Given the description of an element on the screen output the (x, y) to click on. 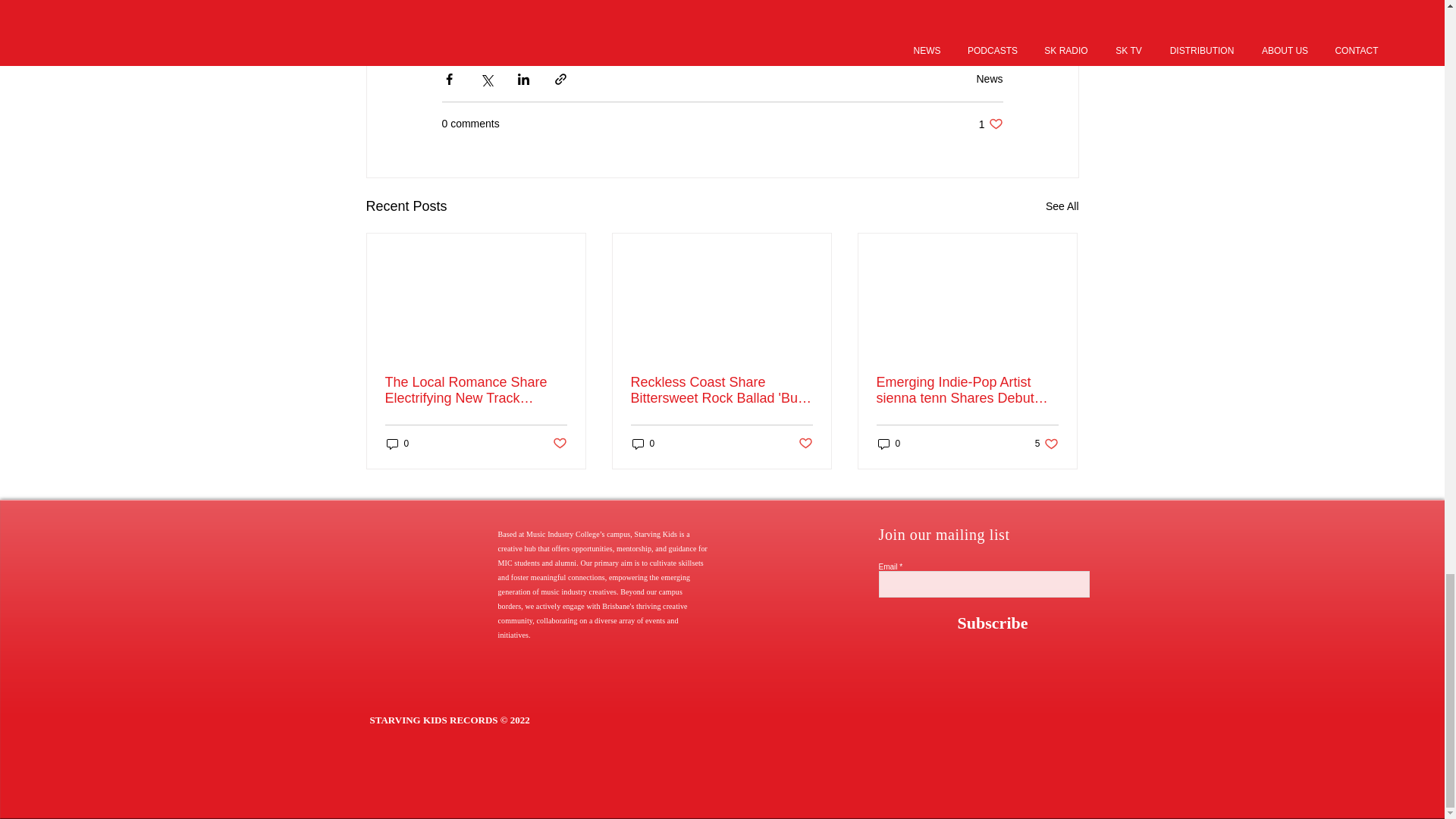
See All (1061, 206)
music video (990, 124)
club music (478, 20)
producer (792, 20)
DJ (553, 20)
News (607, 20)
the blessed madonna (989, 78)
